Given the description of an element on the screen output the (x, y) to click on. 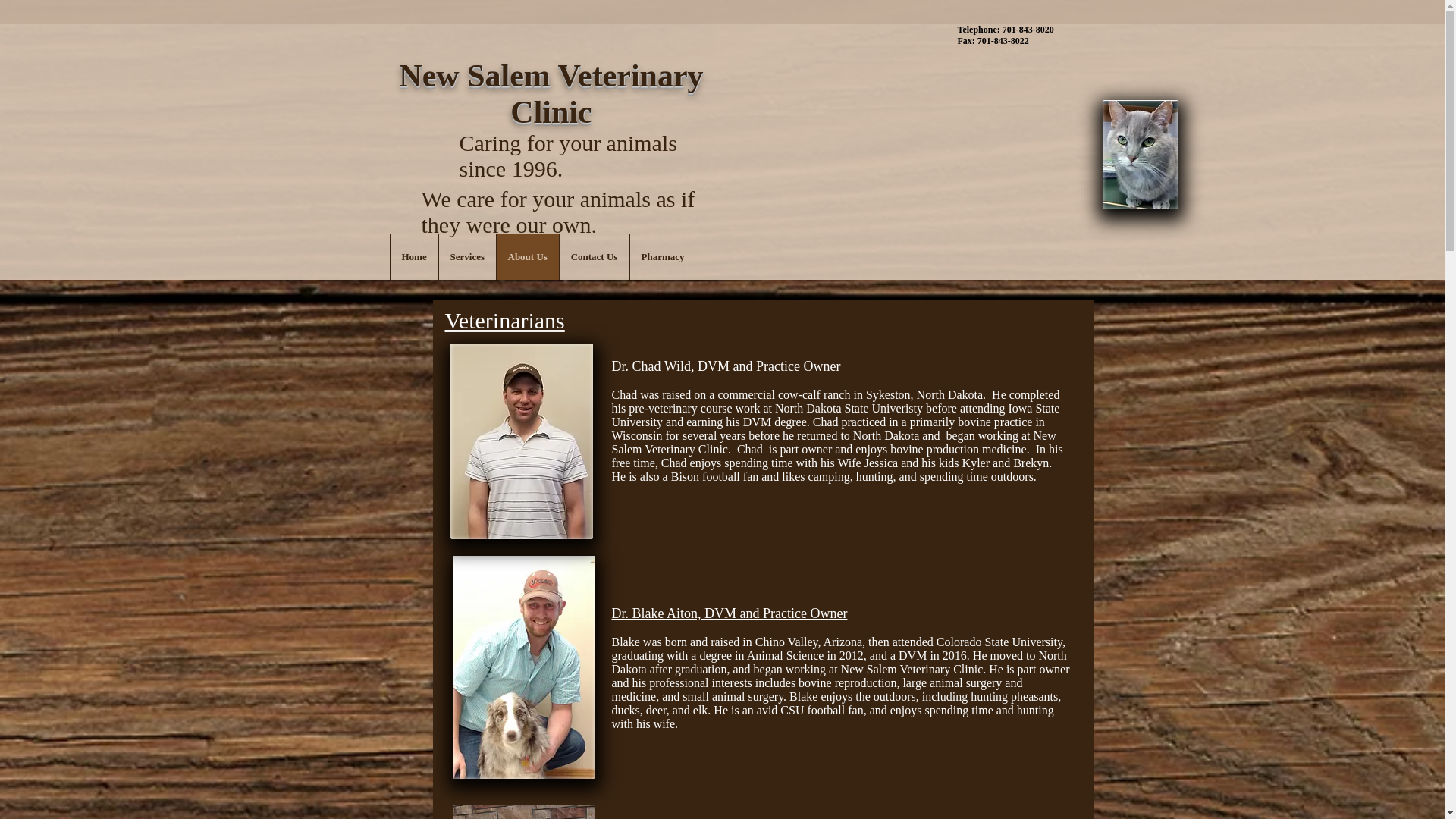
New (428, 75)
Contact Us (592, 256)
Home (414, 256)
About Us (527, 256)
Pharmacy (661, 256)
